Given the description of an element on the screen output the (x, y) to click on. 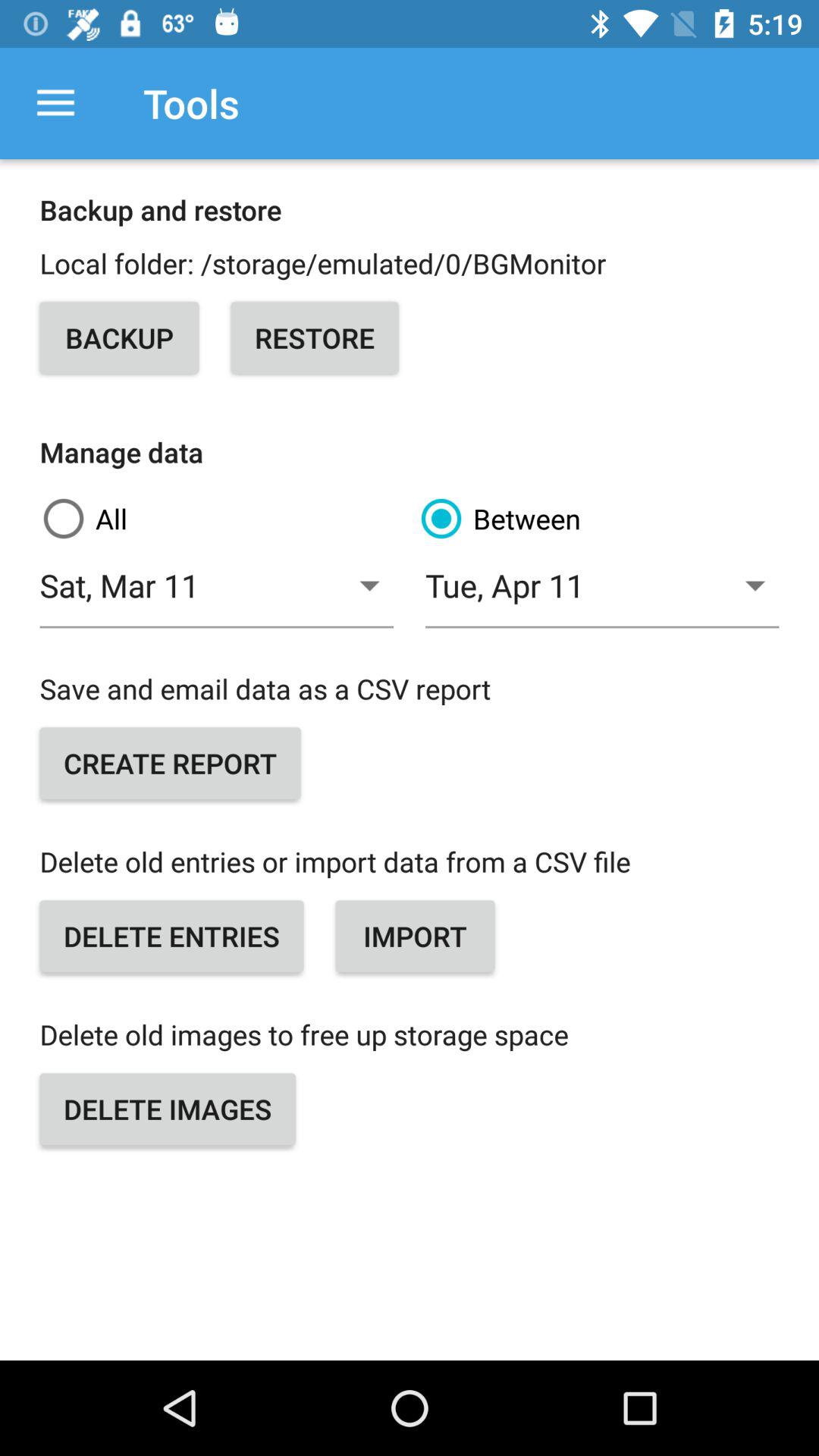
turn on the item above sat, mar 11 icon (598, 518)
